Given the description of an element on the screen output the (x, y) to click on. 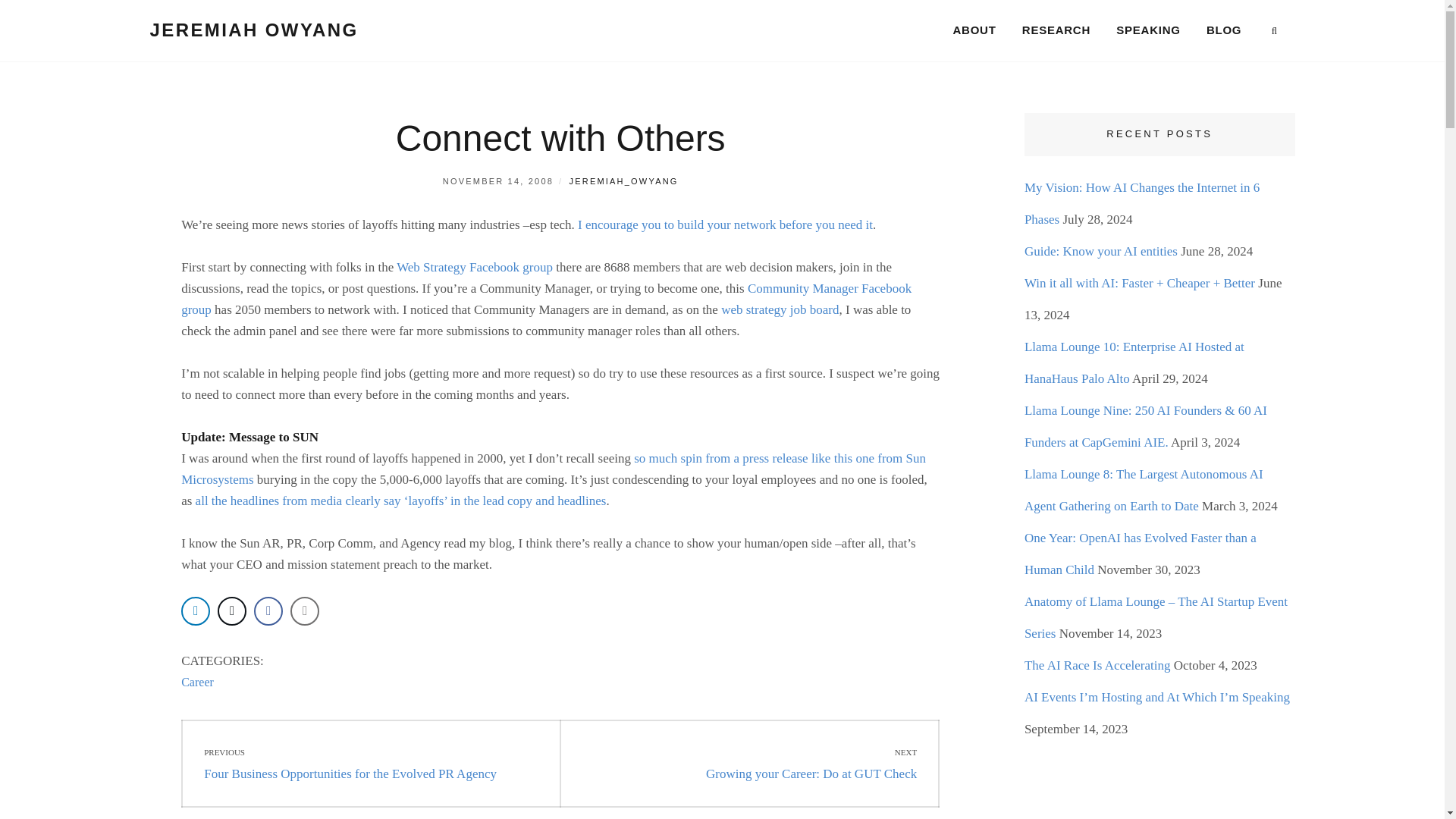
web strategy job board (779, 309)
Career (197, 681)
I encourage you to build your network before you need it (725, 224)
Community Manager Facebook group (545, 298)
ABOUT (974, 29)
Web Strategy Facebook group (474, 267)
BLOG (1223, 29)
SEARCH (1274, 31)
RESEARCH (748, 763)
JEREMIAH OWYANG (1056, 29)
SPEAKING (253, 29)
